Given the description of an element on the screen output the (x, y) to click on. 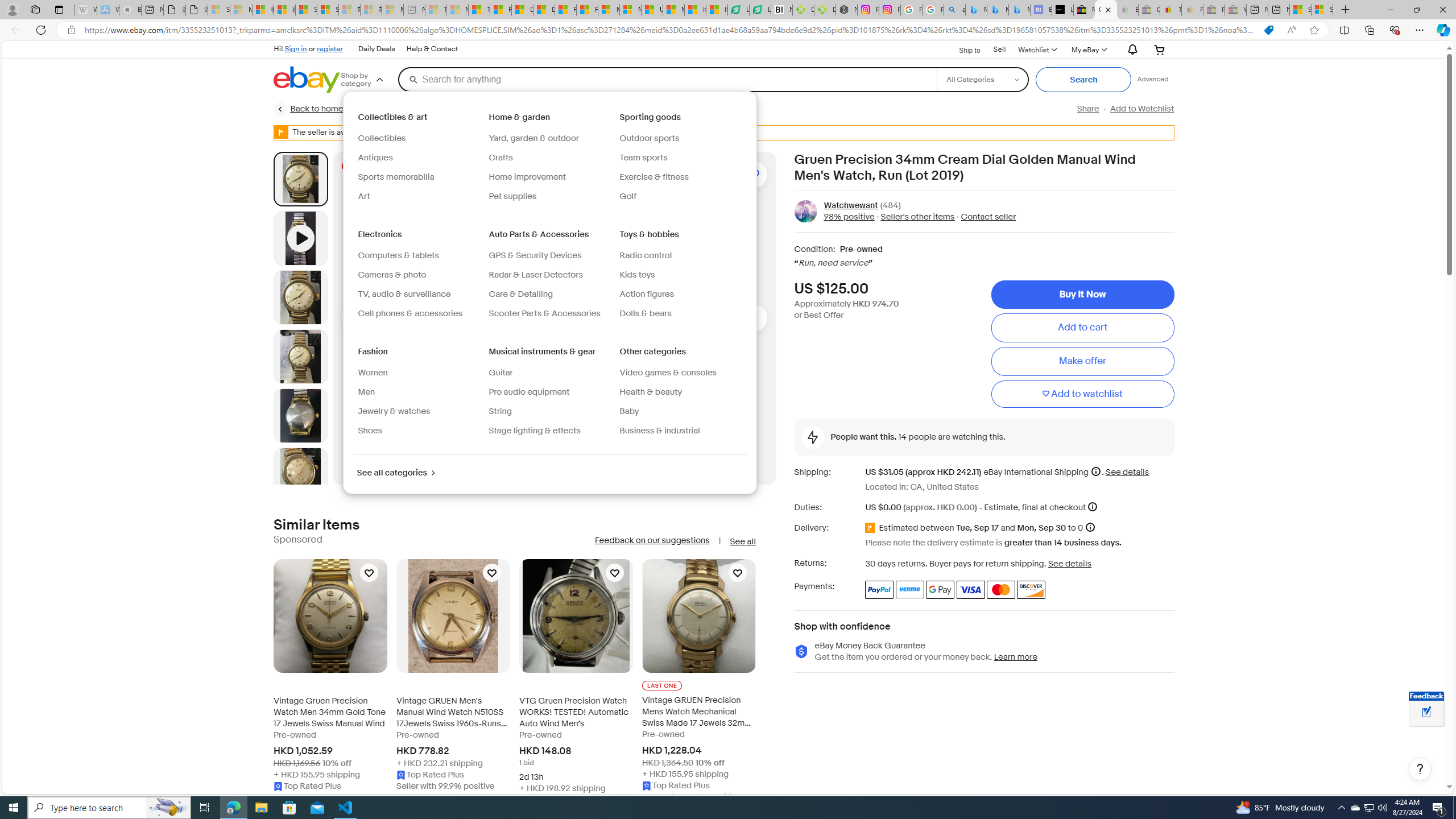
Men (418, 392)
Stage lighting & effects (534, 430)
Add to watchlist (1082, 394)
Previous image - Item images thumbnails (354, 318)
Video 1 of 1 (300, 238)
Contact seller (988, 216)
Jewelry & watches (394, 411)
register (329, 48)
Help & Contact (432, 49)
WARNING (280, 131)
Marine life - MSN - Sleeping (457, 9)
